Given the description of an element on the screen output the (x, y) to click on. 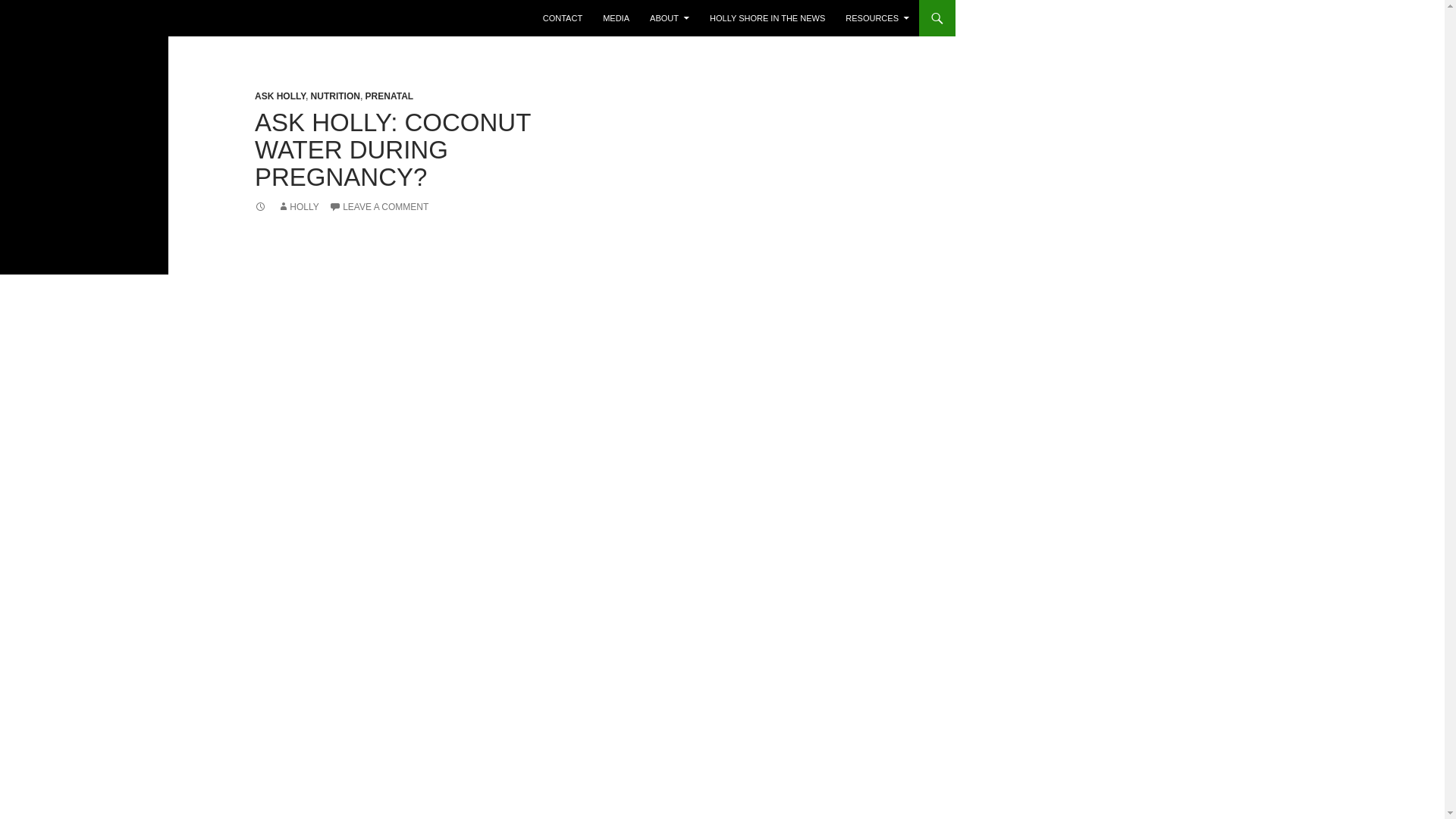
ASK HOLLY (279, 95)
PRENATAL (389, 95)
CONTACT (562, 18)
ABOUT (669, 18)
MEDIA (616, 18)
NUTRITION (335, 95)
RESOURCES (876, 18)
HOLLY SHORE IN THE NEWS (767, 18)
